Given the description of an element on the screen output the (x, y) to click on. 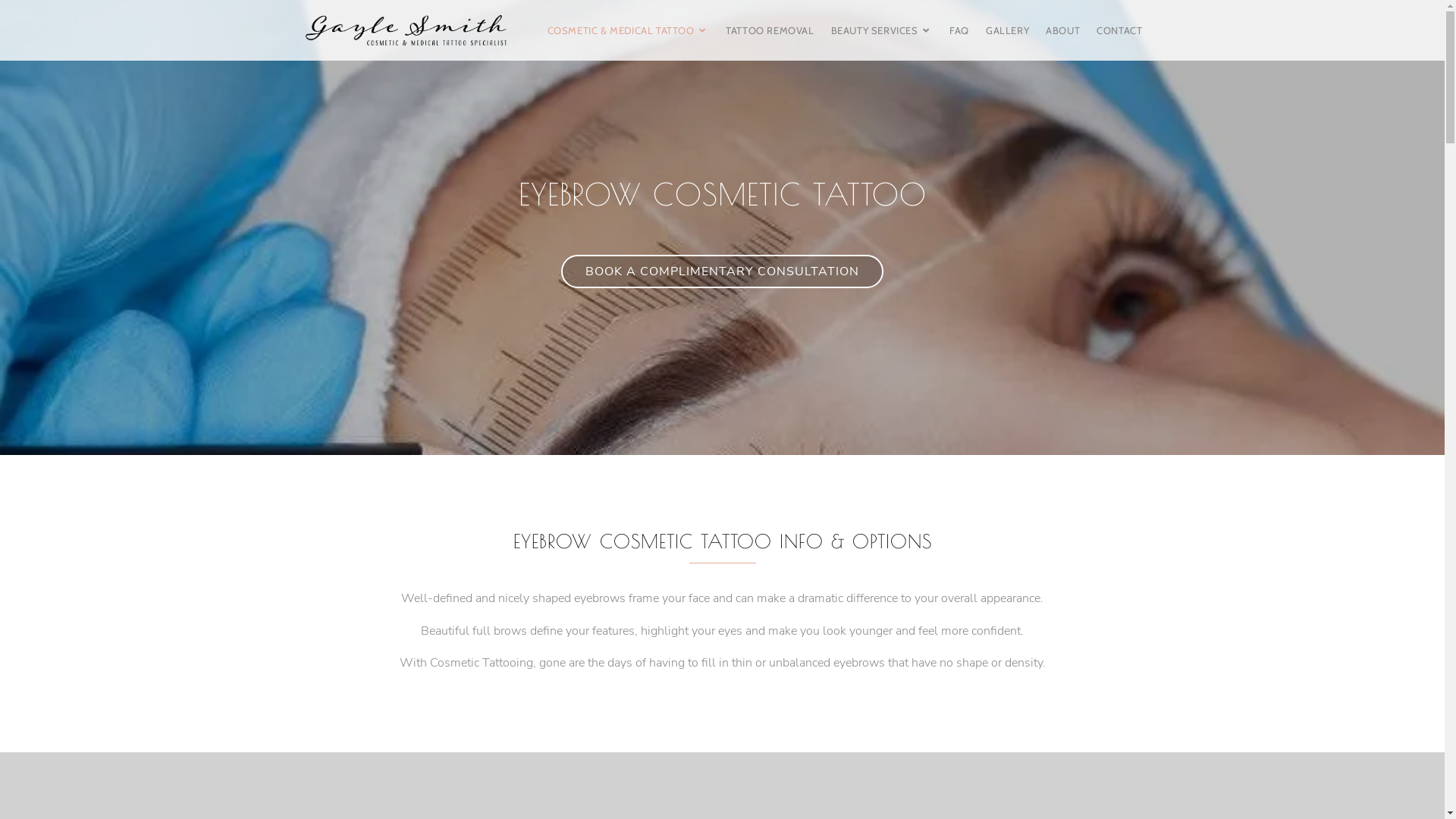
FAQ Element type: text (959, 30)
ABOUT Element type: text (1062, 30)
CONTACT Element type: text (1119, 30)
GALLERY Element type: text (1007, 30)
BOOK A COMPLIMENTARY CONSULTATION Element type: text (722, 271)
COSMETIC & MEDICAL TATTOO Element type: text (628, 30)
BEAUTY SERVICES Element type: text (881, 30)
TATTOO REMOVAL Element type: text (769, 30)
